Given the description of an element on the screen output the (x, y) to click on. 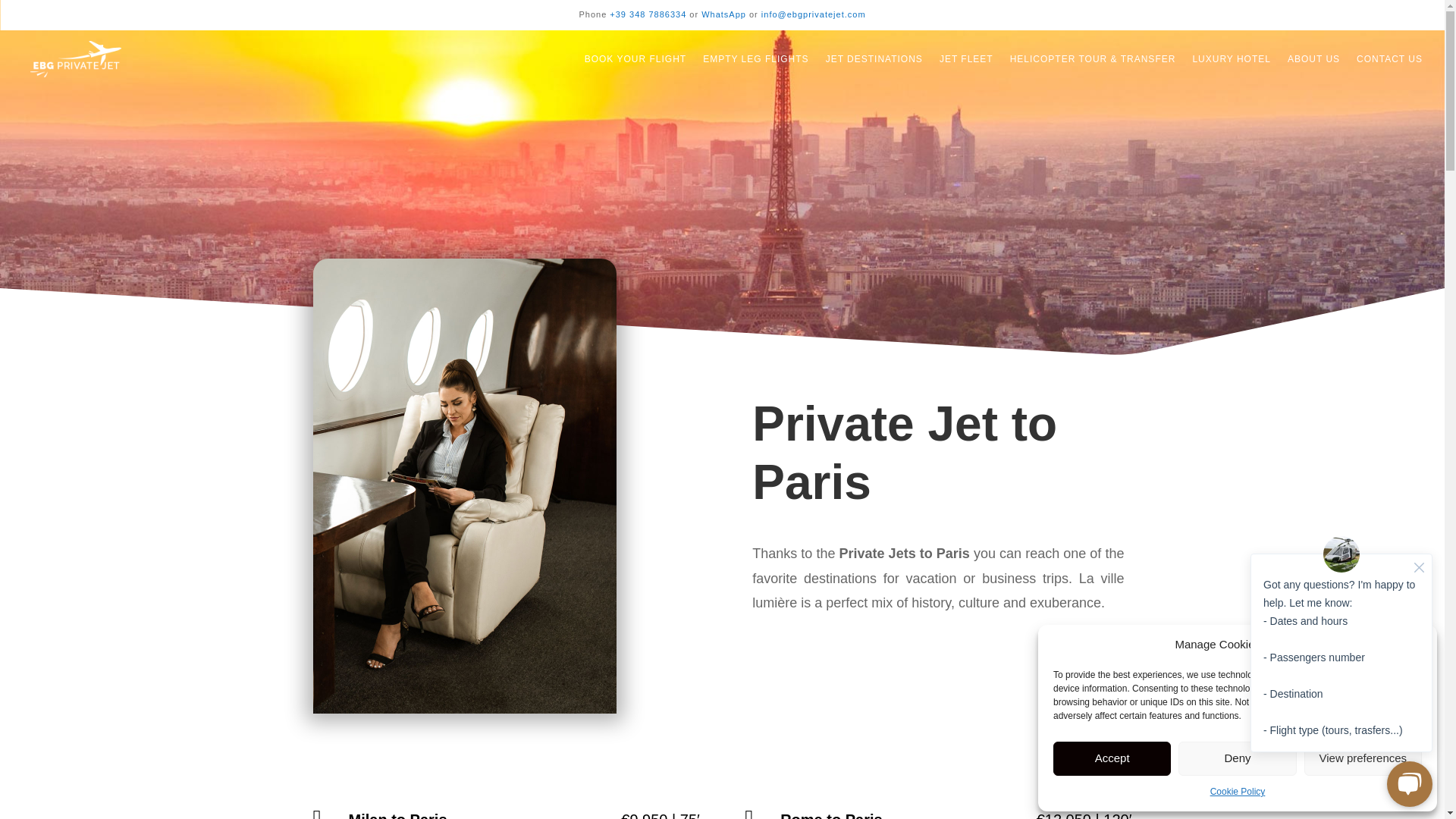
CONTACT US (1389, 58)
BOOK YOUR FLIGHT (635, 58)
LUXURY HOTEL (1231, 58)
Deny (1236, 758)
EMPTY LEG FLIGHTS (755, 58)
View preferences (1363, 758)
WhatsApp (723, 13)
Accept (1111, 758)
Cookie Policy (1237, 791)
JET FLEET (965, 58)
ABOUT US (1313, 58)
JET DESTINATIONS (874, 58)
